Given the description of an element on the screen output the (x, y) to click on. 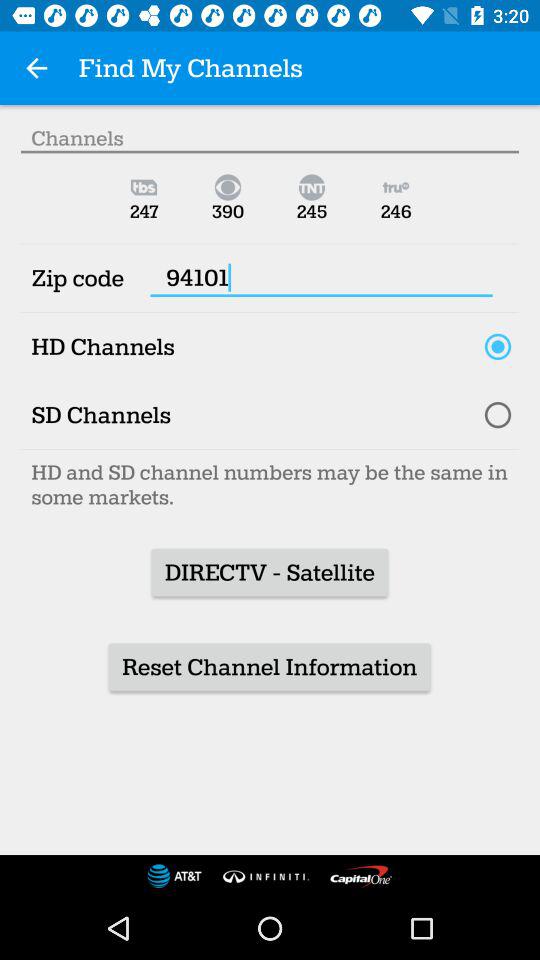
hd channel on (498, 346)
